Given the description of an element on the screen output the (x, y) to click on. 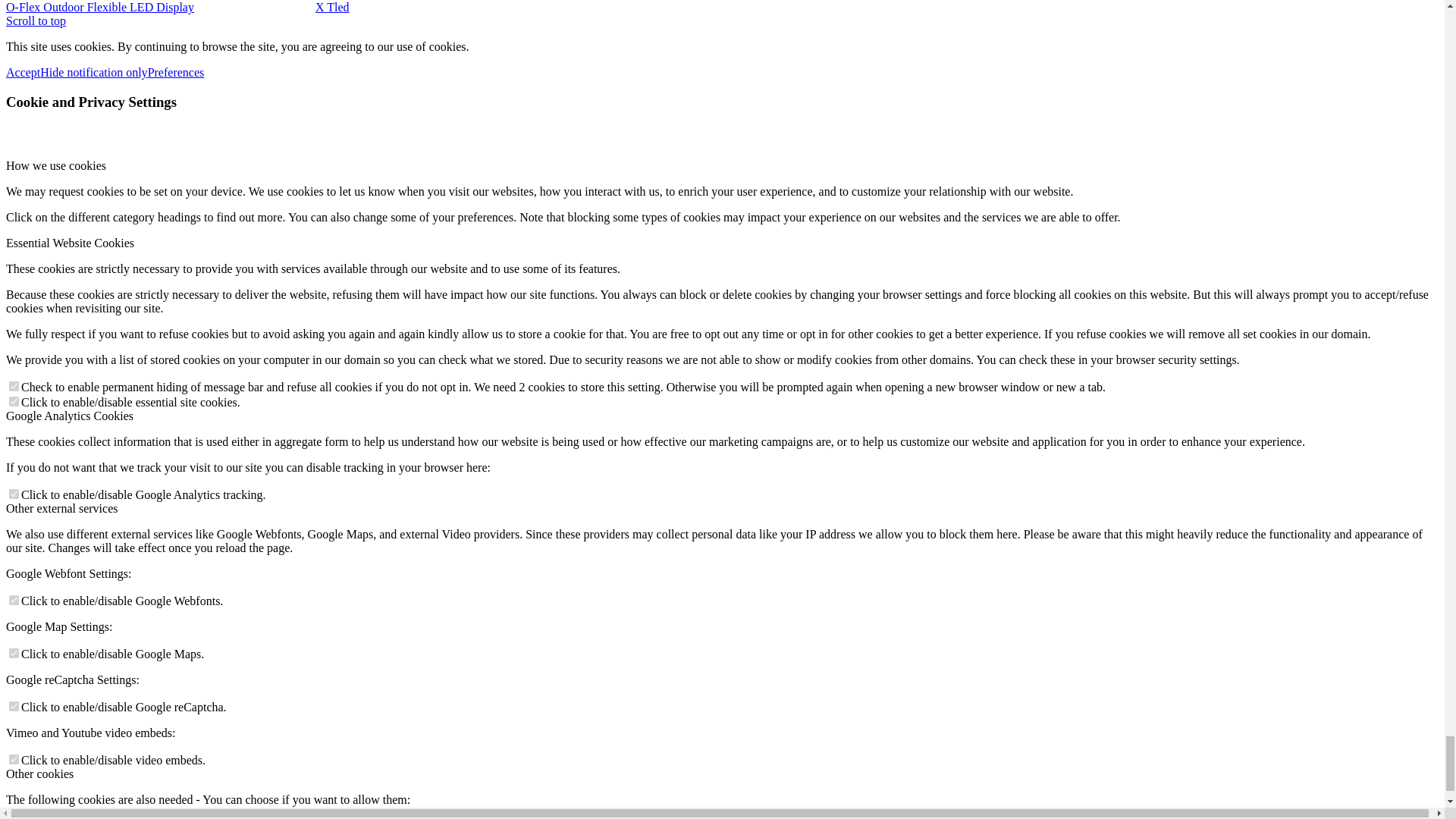
on (13, 386)
on (13, 493)
on (13, 706)
on (13, 600)
on (13, 653)
on (13, 401)
on (13, 759)
